Given the description of an element on the screen output the (x, y) to click on. 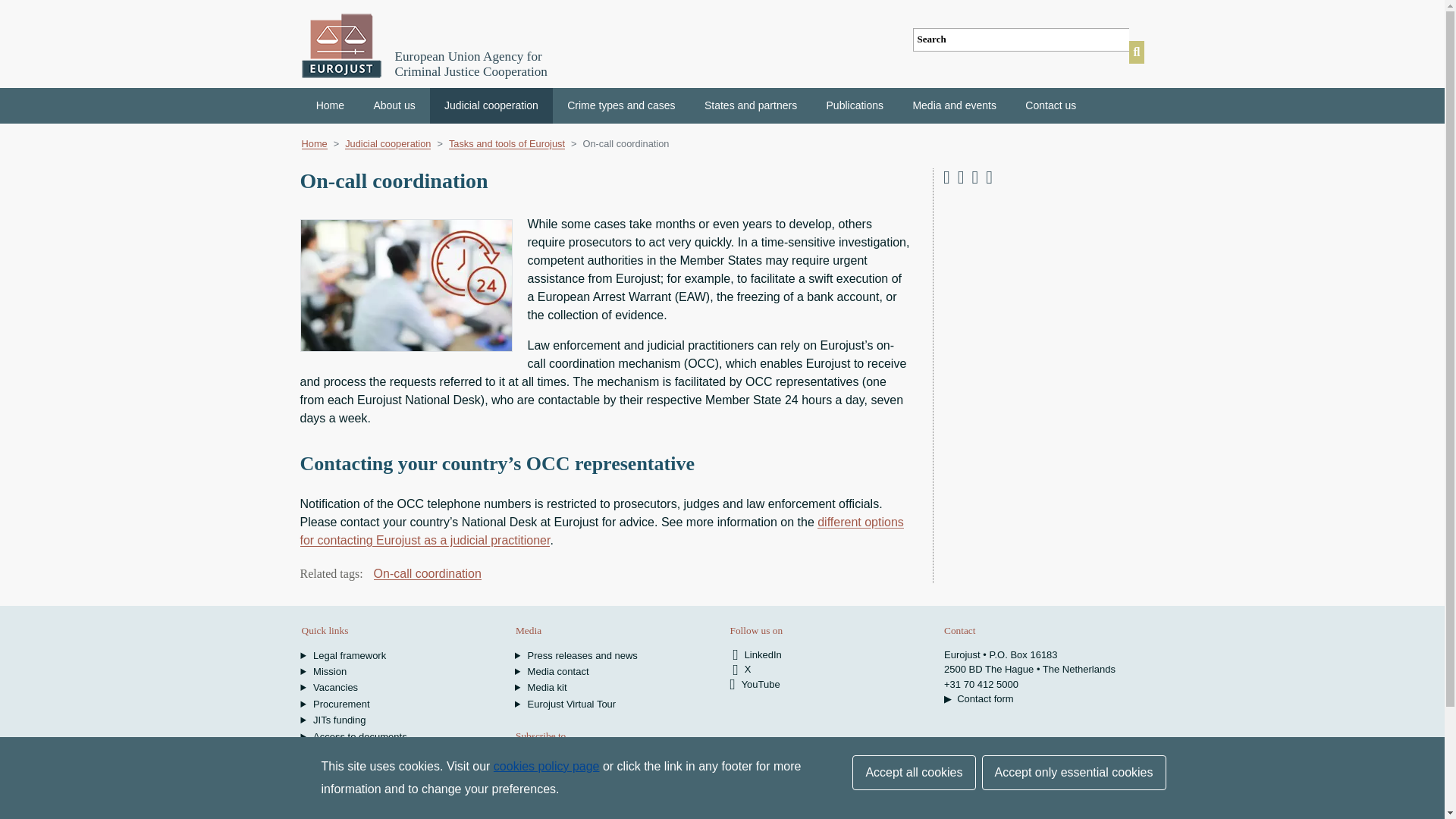
Accept all cookies (913, 772)
Home (330, 105)
Enter the terms you wish to search for. (1020, 38)
cookies policy page (546, 766)
Accept only essential cookies (1073, 772)
